Given the description of an element on the screen output the (x, y) to click on. 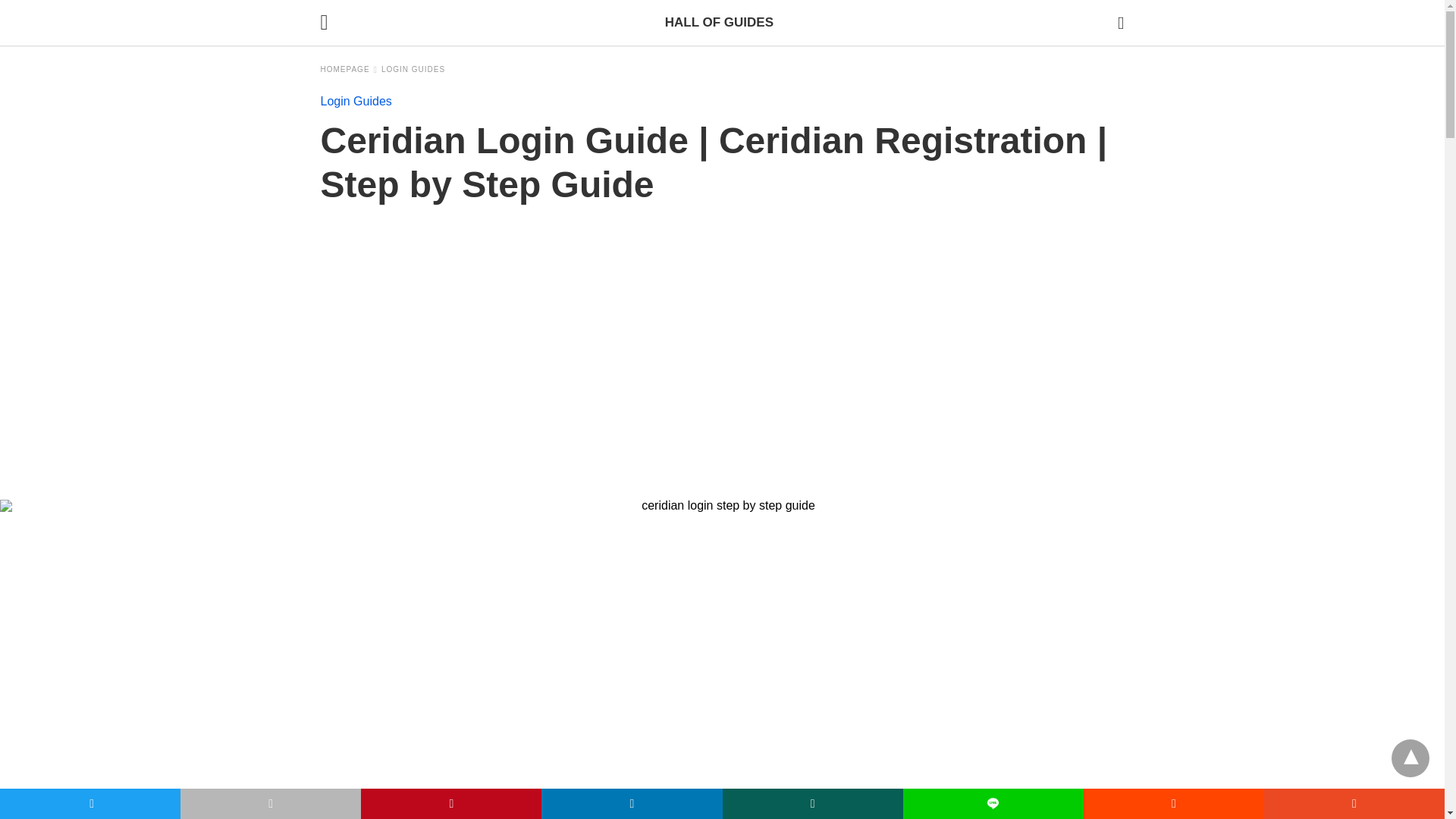
HOMEPAGE (348, 69)
Homepage (348, 69)
Login Guides (413, 69)
Login Guides (355, 101)
Login Guides (355, 101)
LOGIN GUIDES (413, 69)
